Given the description of an element on the screen output the (x, y) to click on. 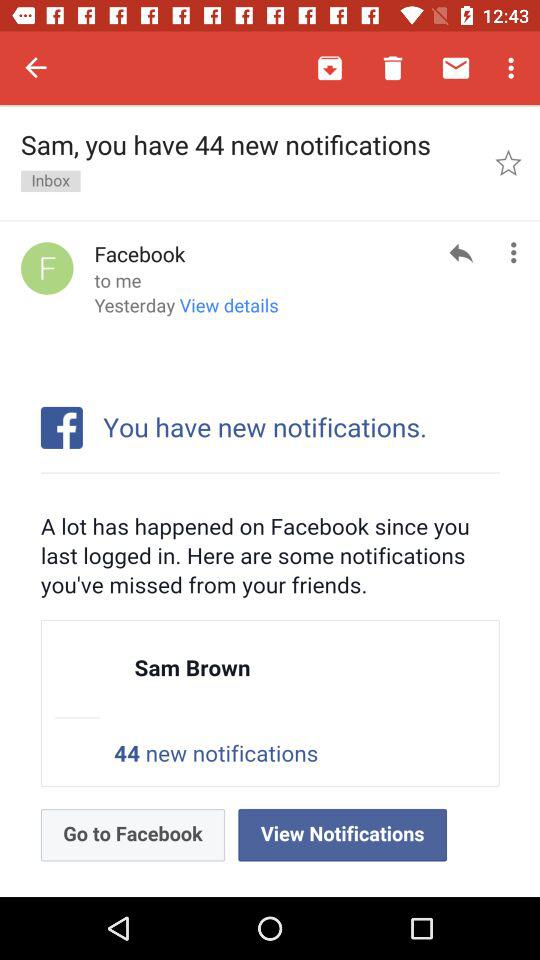
press the sam you have item (248, 162)
